Given the description of an element on the screen output the (x, y) to click on. 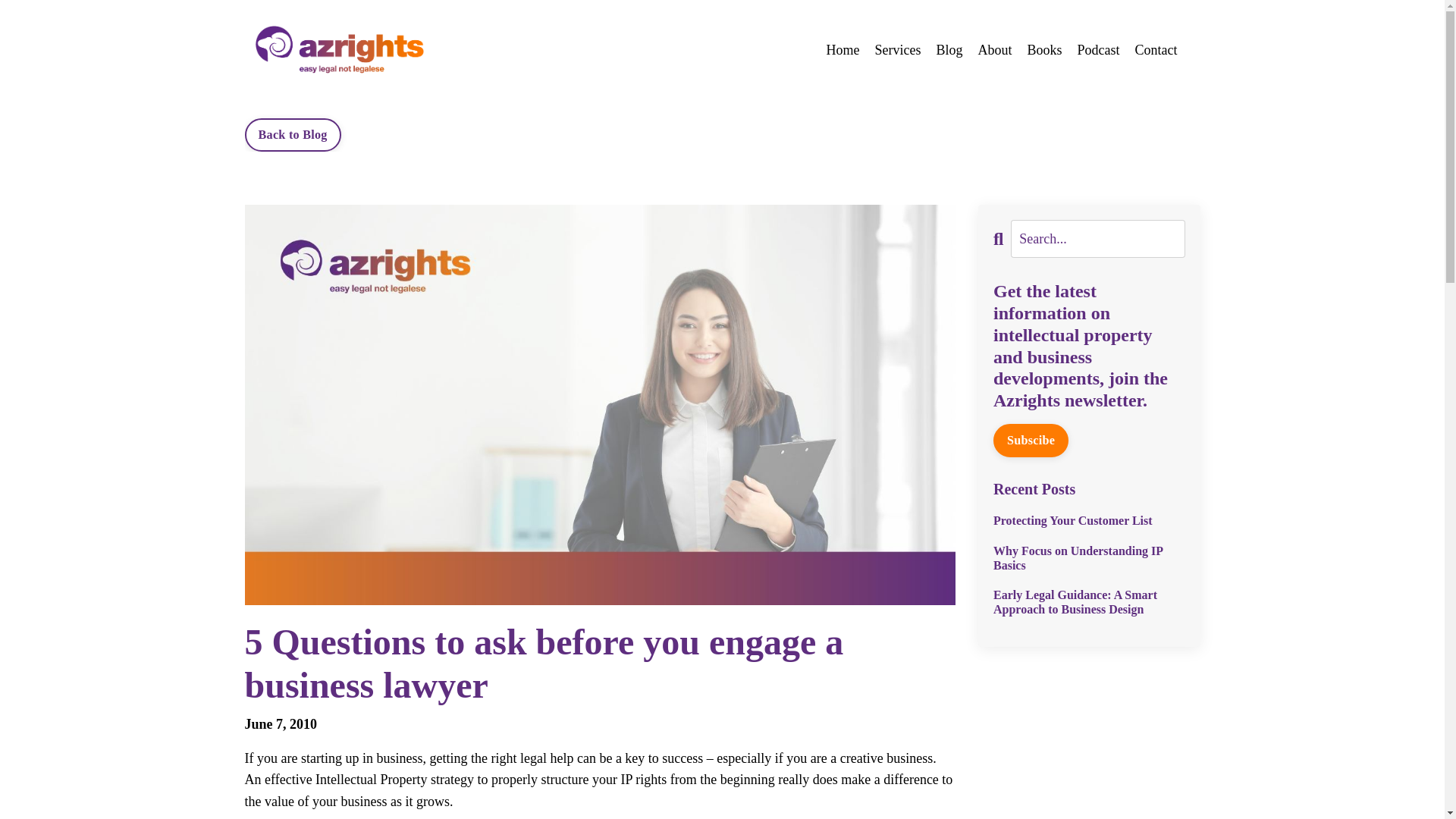
Contact (1155, 50)
Blog (949, 50)
Protecting Your Customer List (1088, 520)
Podcast (1098, 50)
Subscibe (1030, 440)
Back to Blog (292, 134)
About (993, 50)
Why Focus on Understanding IP Basics (1088, 557)
Home (842, 50)
Services (897, 50)
